Given the description of an element on the screen output the (x, y) to click on. 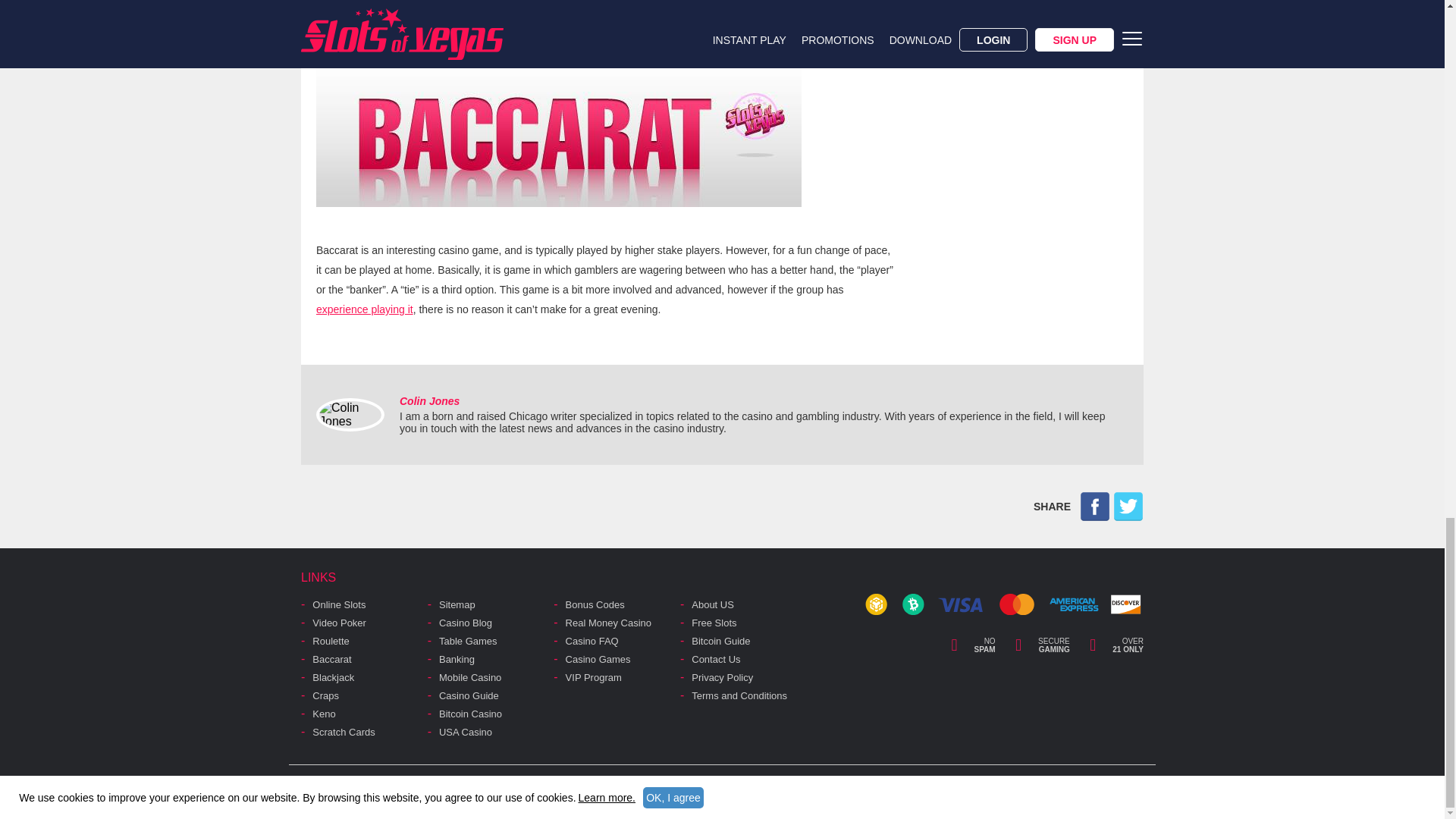
Roulette (331, 641)
Free Slots (713, 622)
Bonus Codes (595, 604)
Baccarat (336, 30)
Sitemap (457, 604)
Online Slots (339, 604)
Real Money Casino (608, 622)
experience playing it (364, 309)
About US (712, 604)
Table Games (468, 641)
Casino FAQ (592, 641)
Video Poker (339, 622)
Casino Blog (465, 622)
